Given the description of an element on the screen output the (x, y) to click on. 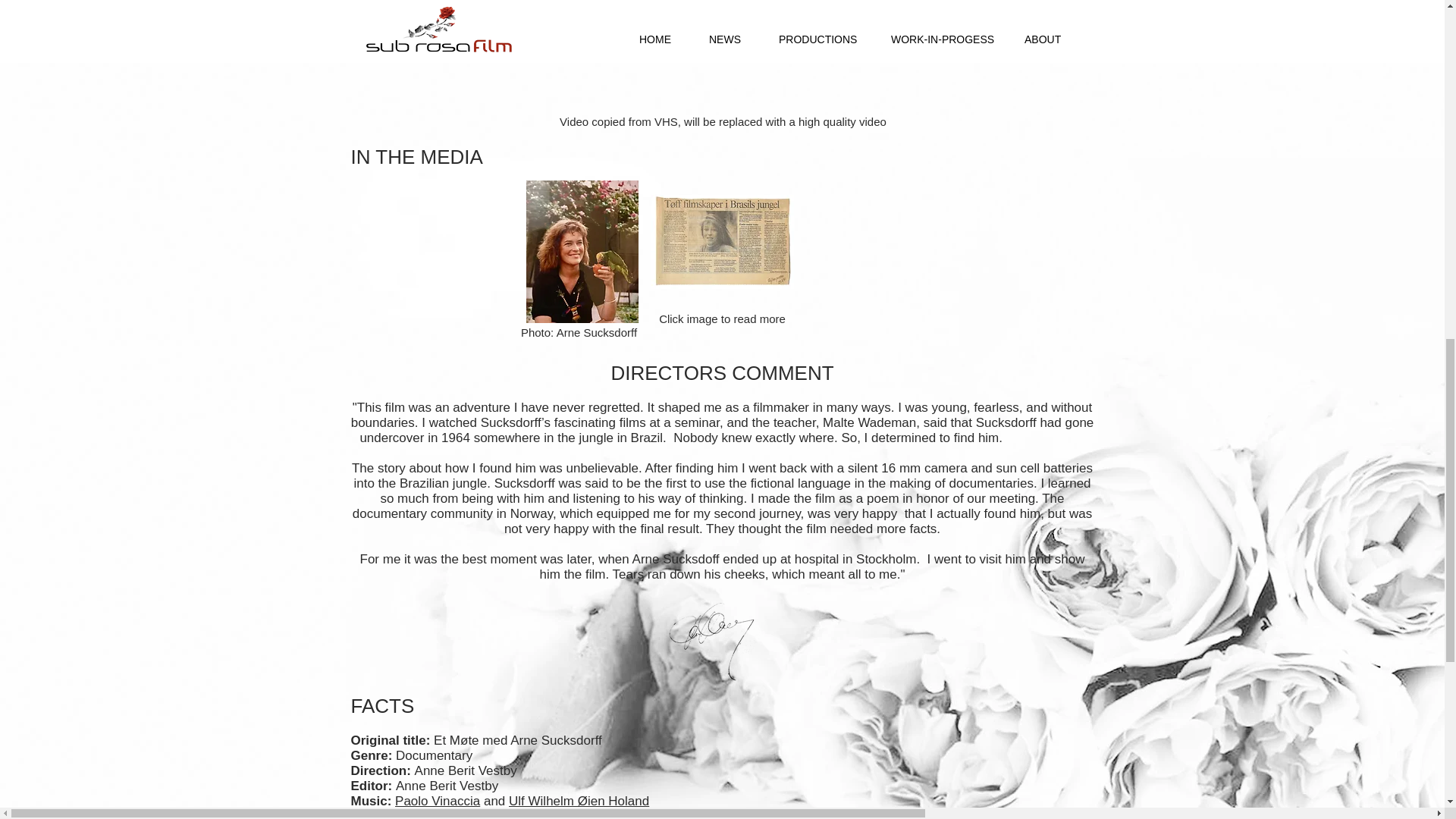
External Vimeo (723, 54)
